Given the description of an element on the screen output the (x, y) to click on. 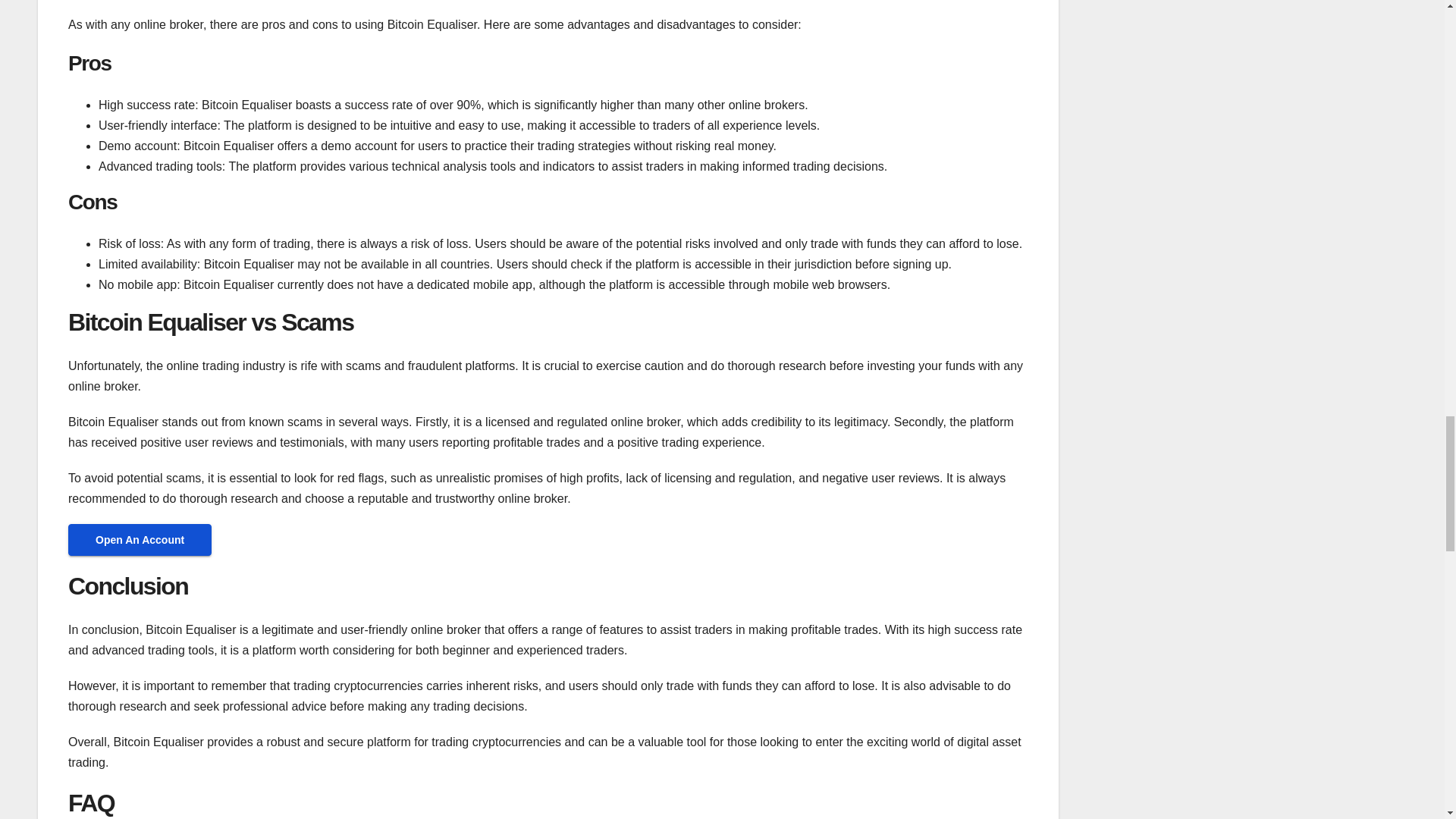
Open An Account (139, 540)
Open An Account (139, 539)
